Given the description of an element on the screen output the (x, y) to click on. 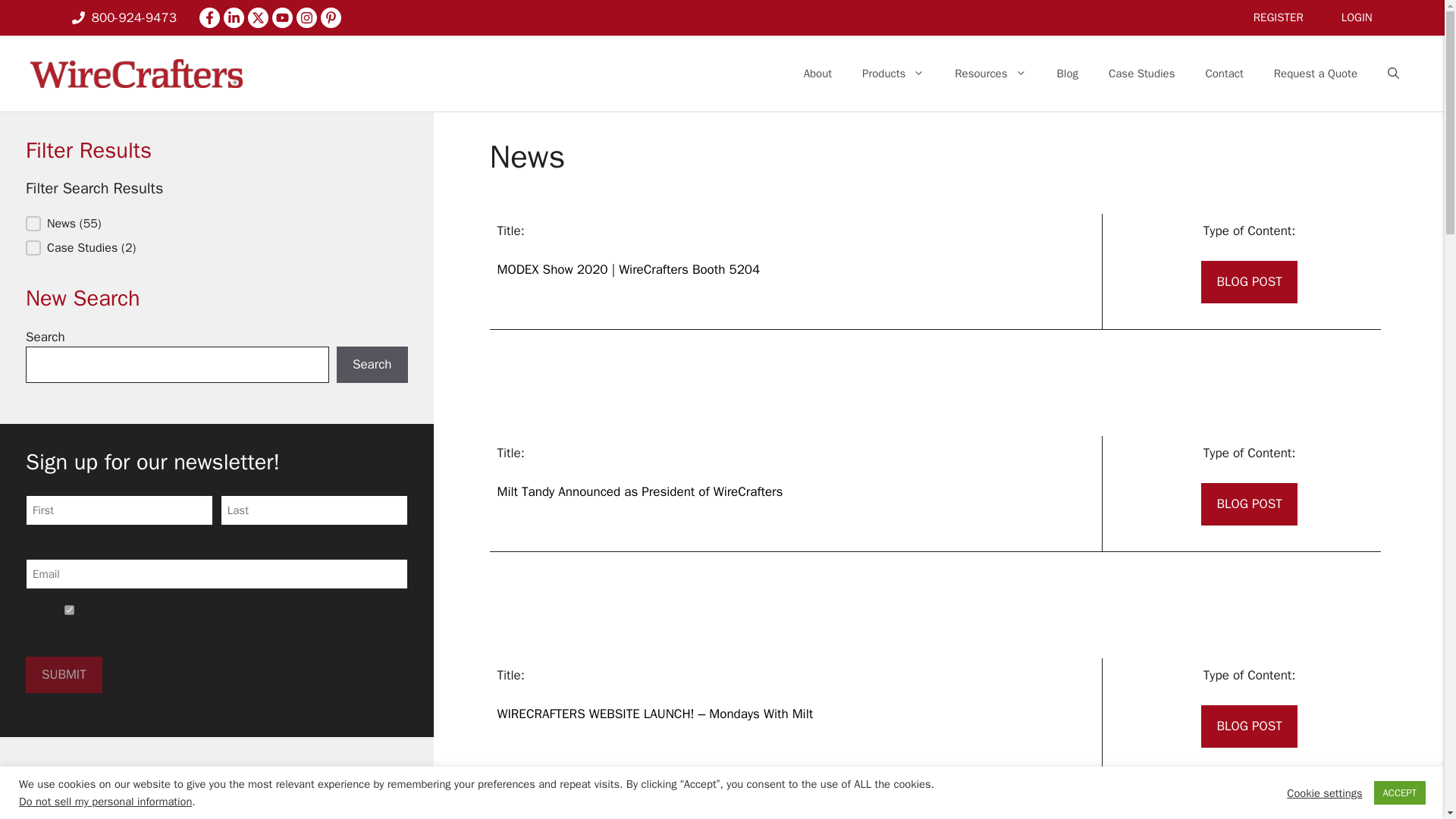
Submit (63, 674)
1 (69, 610)
Products (893, 73)
REGISTER (1278, 17)
About (818, 73)
LOGIN (1356, 17)
800-924-9473 (123, 17)
